Given the description of an element on the screen output the (x, y) to click on. 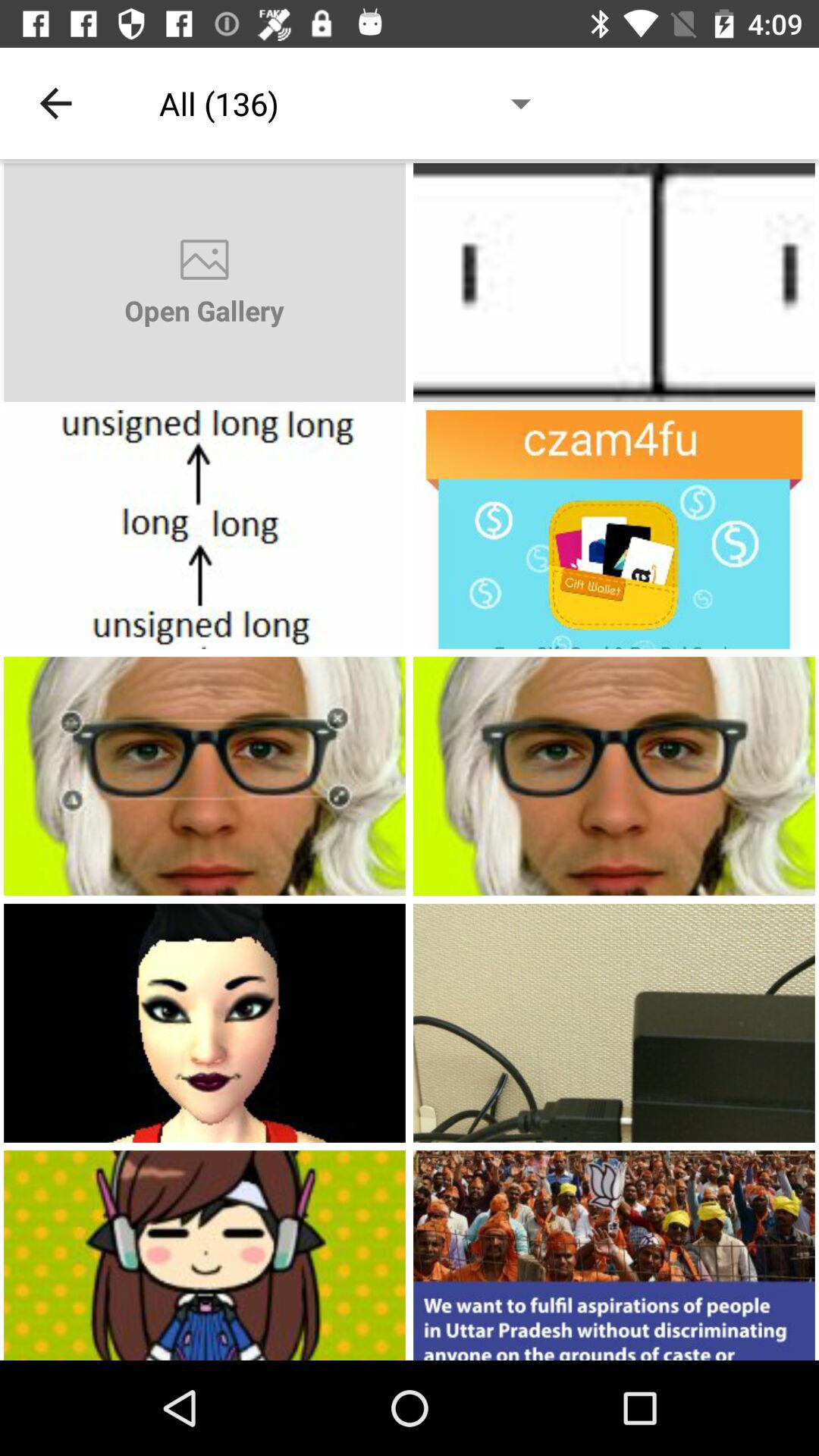
choose picture (204, 1022)
